Given the description of an element on the screen output the (x, y) to click on. 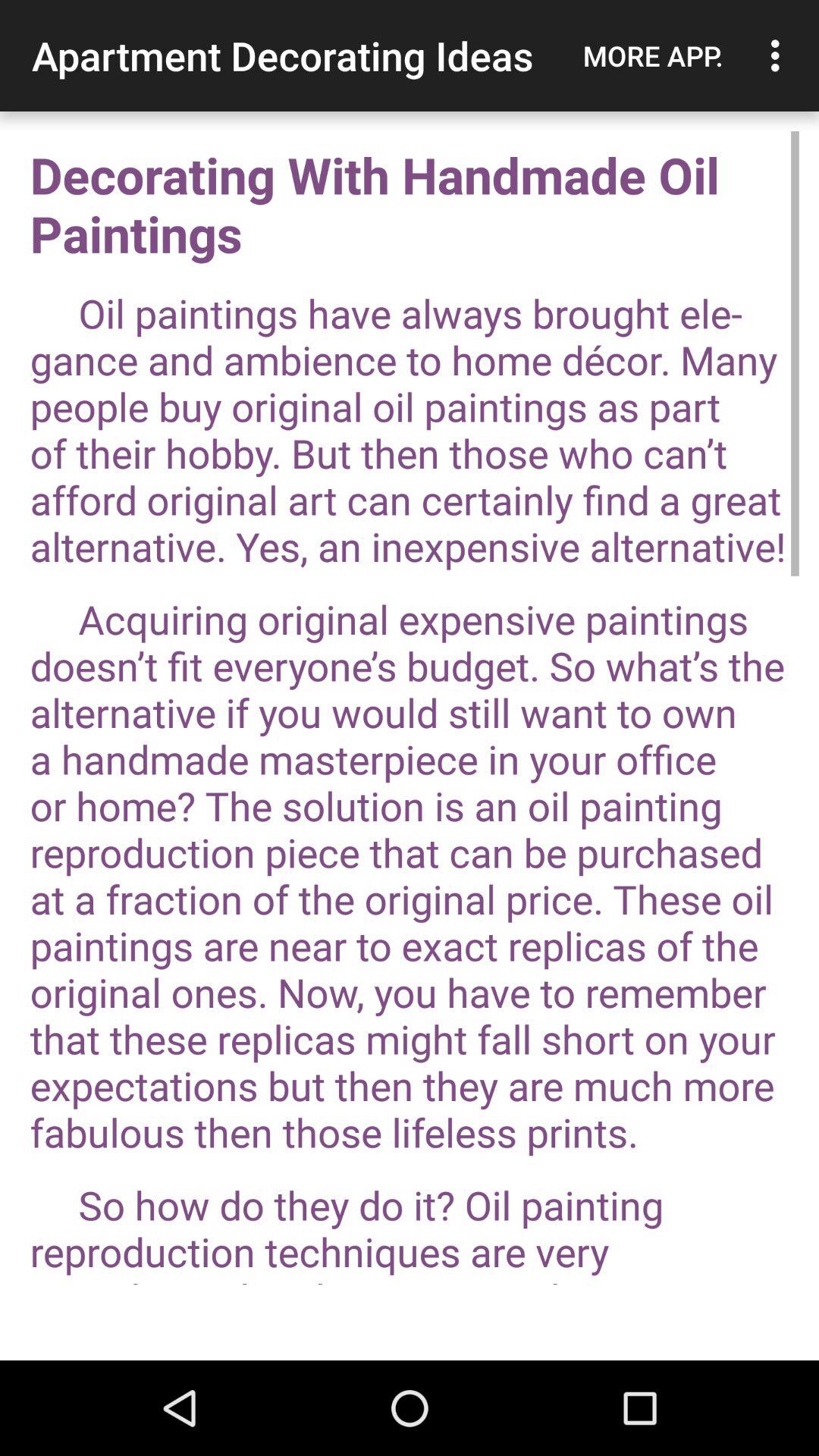
flip to the more app. (653, 55)
